Given the description of an element on the screen output the (x, y) to click on. 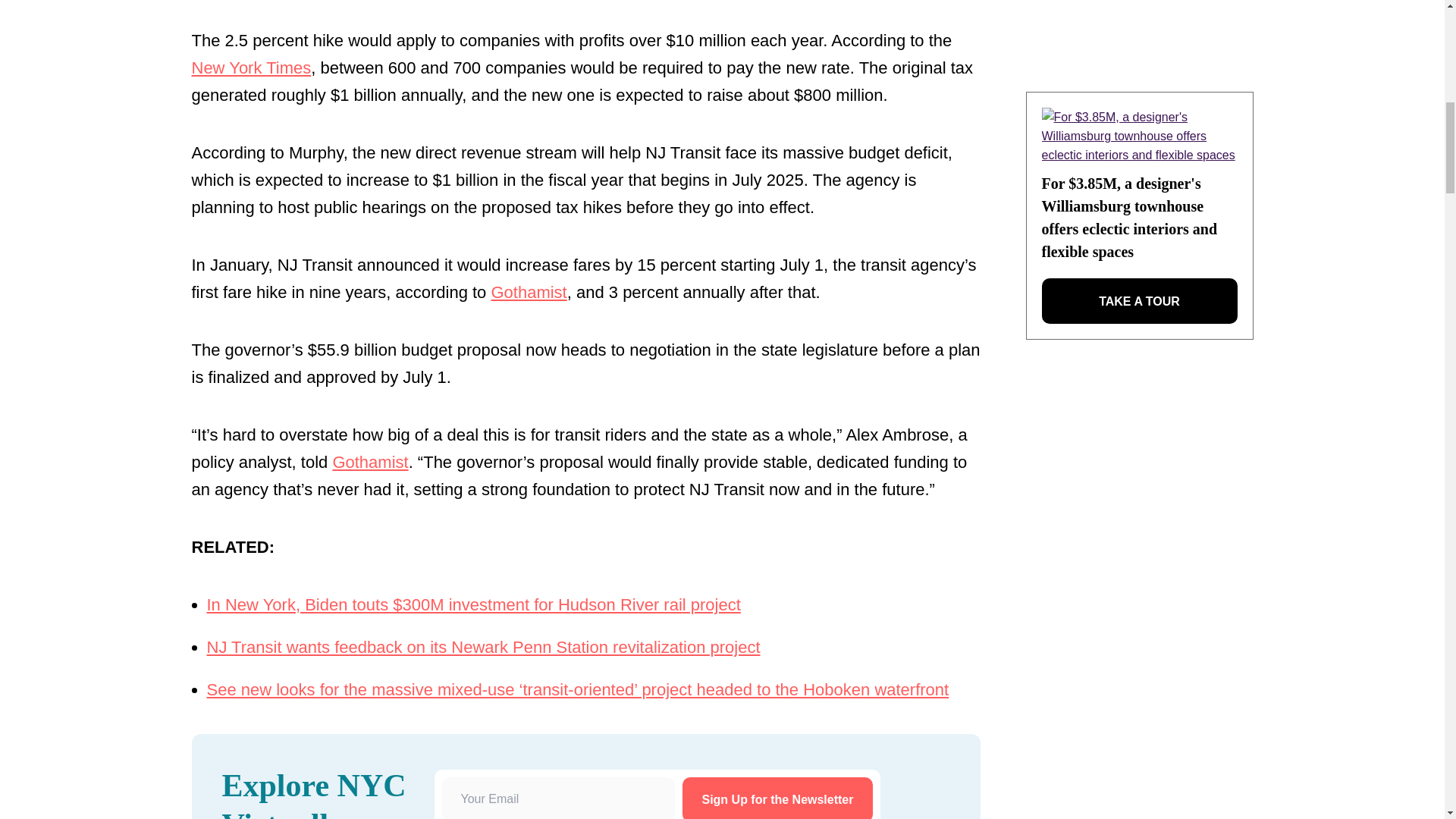
New York Times (250, 67)
Sign Up for the Newsletter (777, 798)
Gothamist (528, 292)
Sign Up for the Newsletter (777, 798)
Gothamist (369, 461)
